Given the description of an element on the screen output the (x, y) to click on. 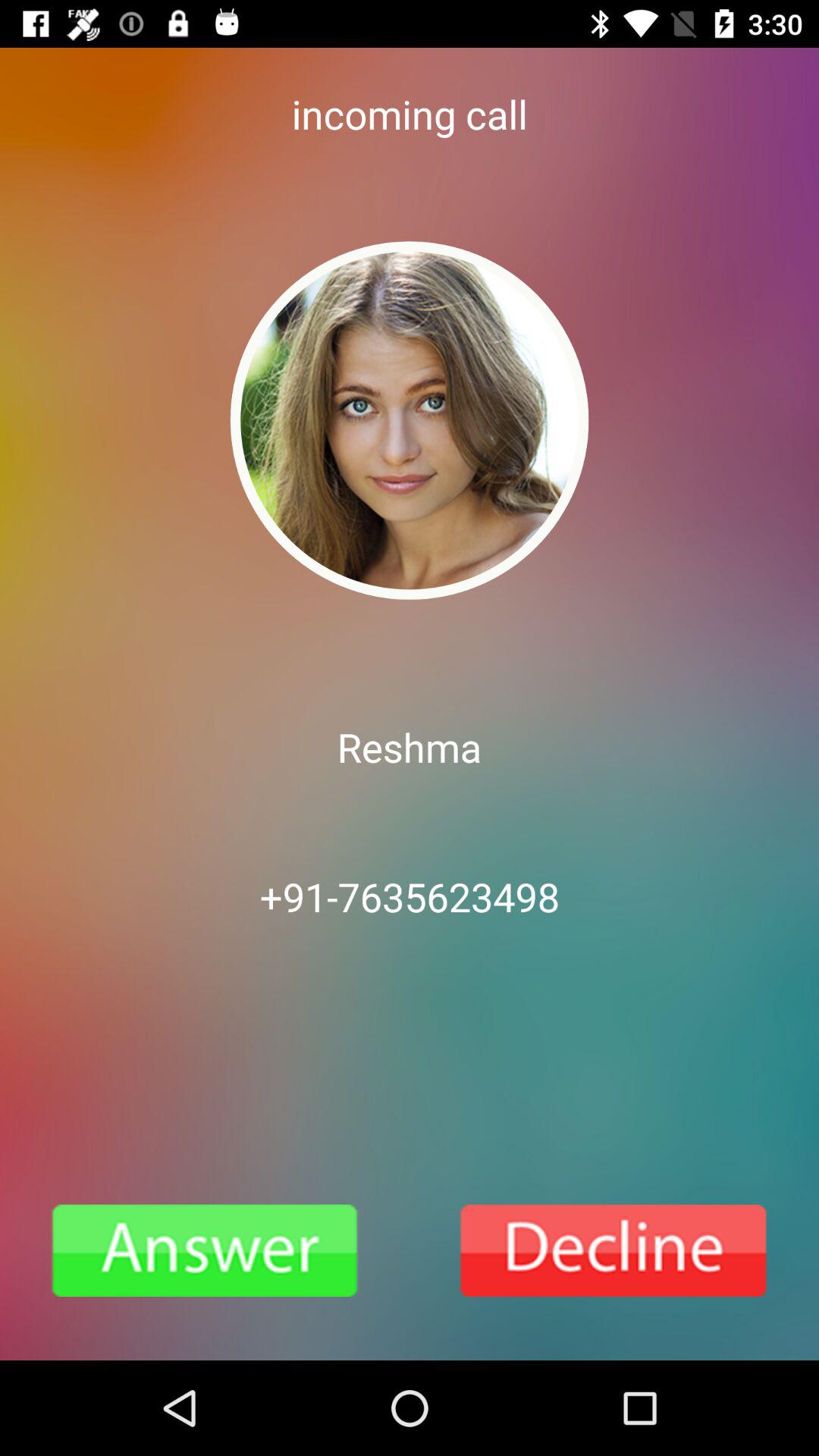
click item at the bottom left corner (204, 1250)
